Given the description of an element on the screen output the (x, y) to click on. 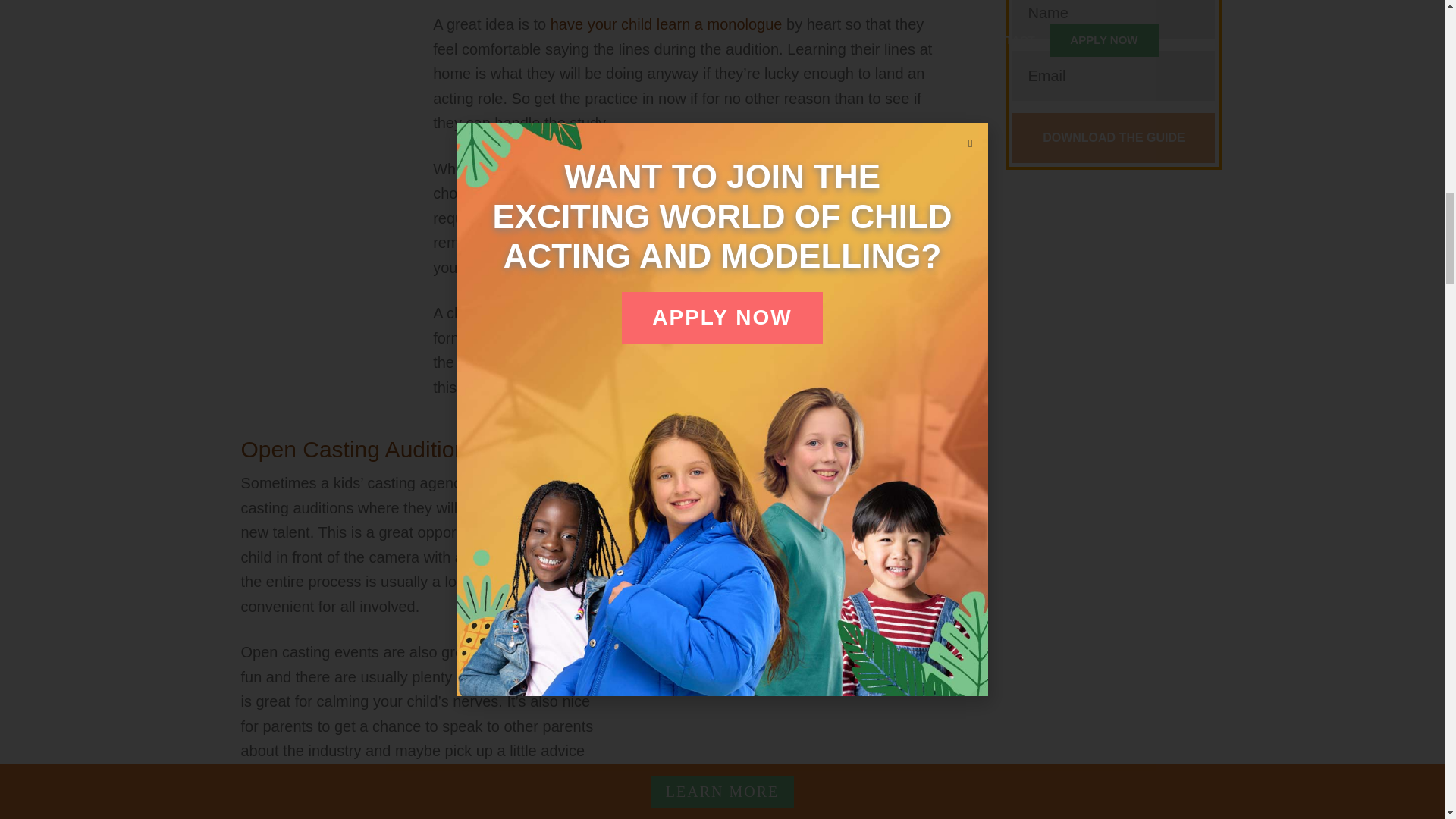
Download the Guide (1112, 137)
kids modeling and acting (318, 68)
